Given the description of an element on the screen output the (x, y) to click on. 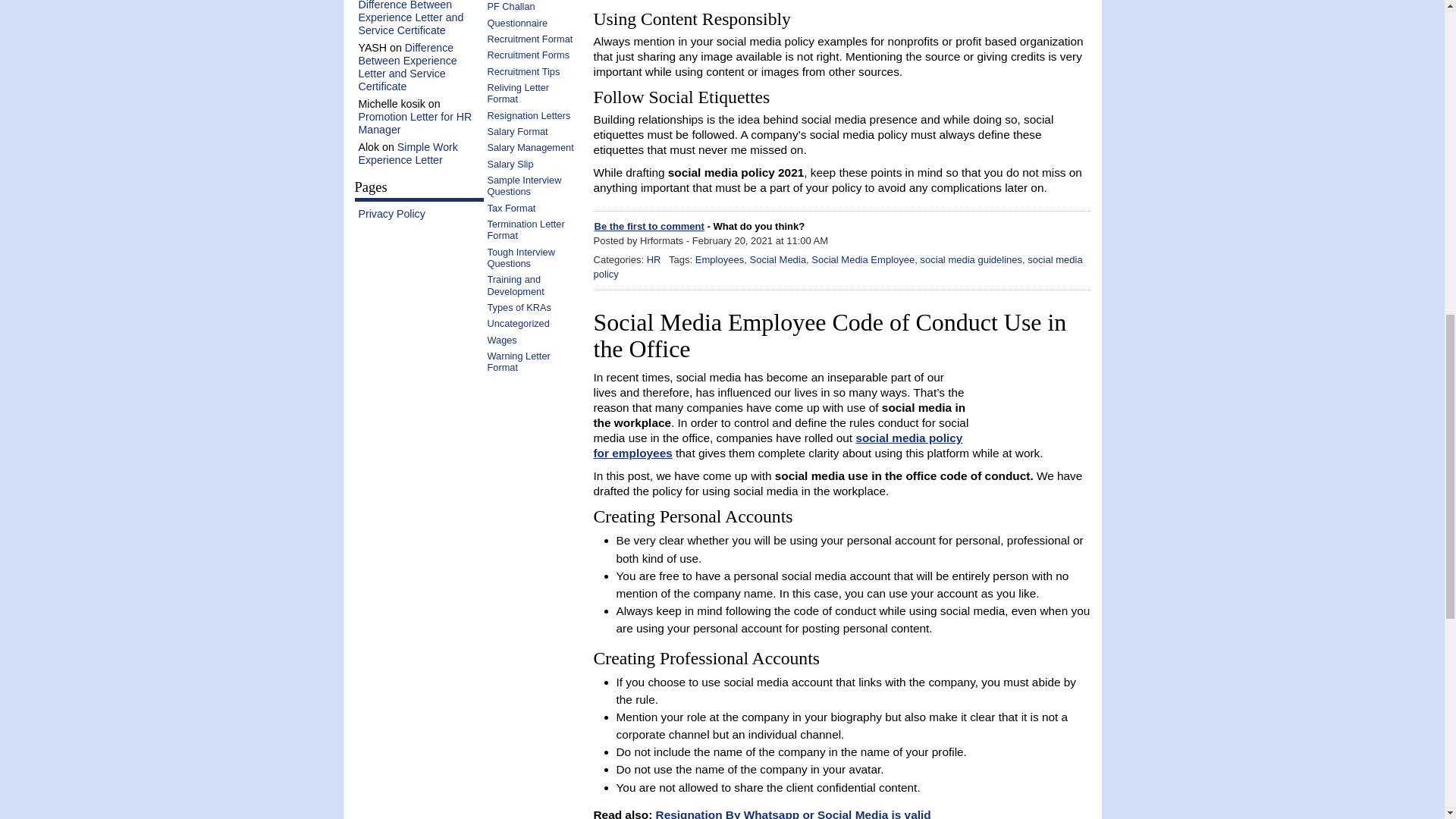
Social Media (777, 259)
social media policy for employees (777, 445)
HR (653, 259)
Social Media Employee Code of Conduct Use in the Office (828, 335)
social media policy (836, 266)
Social Media Employee (862, 259)
Employees (719, 259)
social media guidelines (971, 259)
Resignation By Whatsapp or Social Media is valid (793, 813)
Be the first to comment (649, 225)
